Given the description of an element on the screen output the (x, y) to click on. 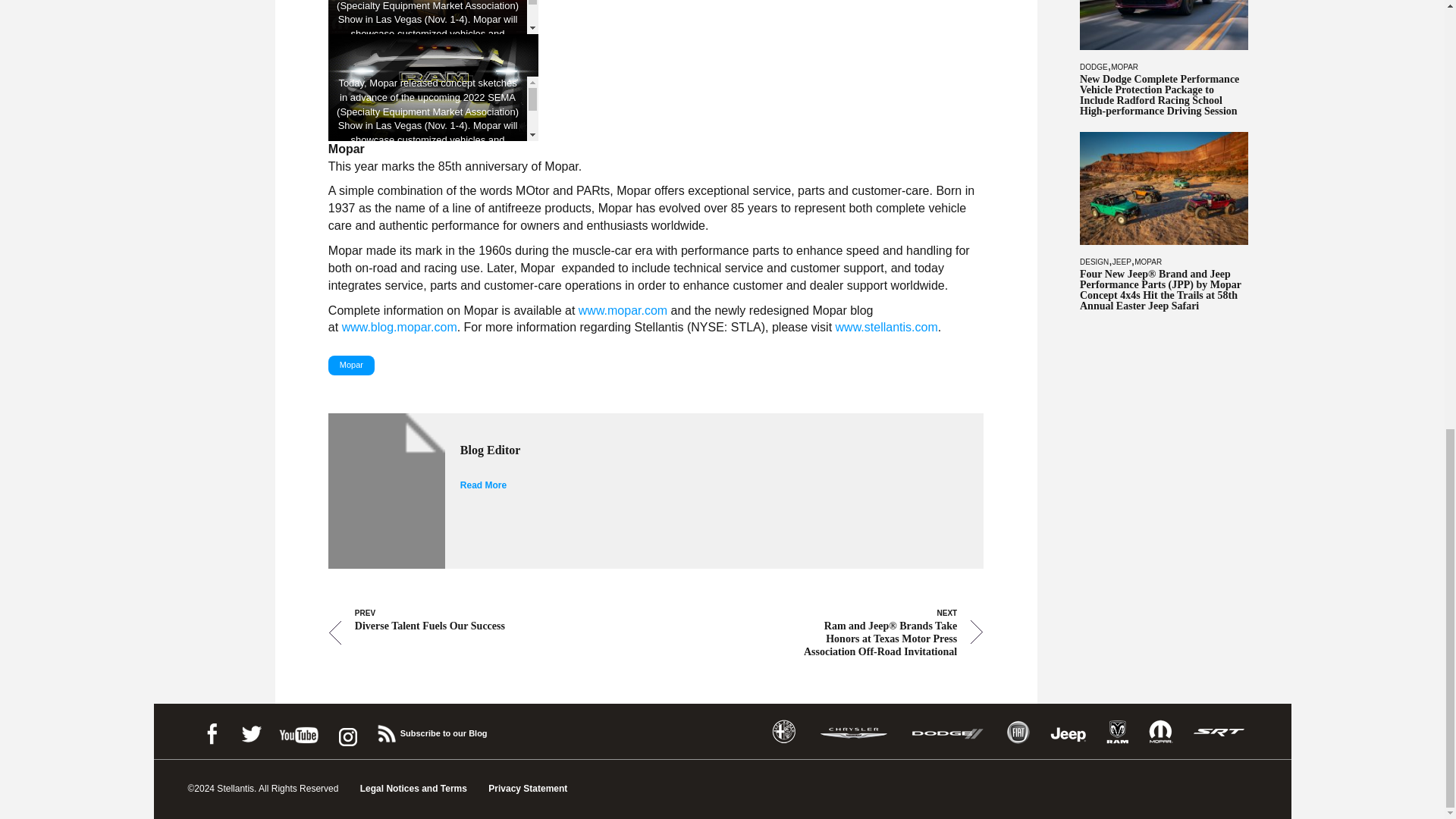
DODGE (1094, 66)
DESIGN (1094, 261)
MOPAR (1124, 66)
